Given the description of an element on the screen output the (x, y) to click on. 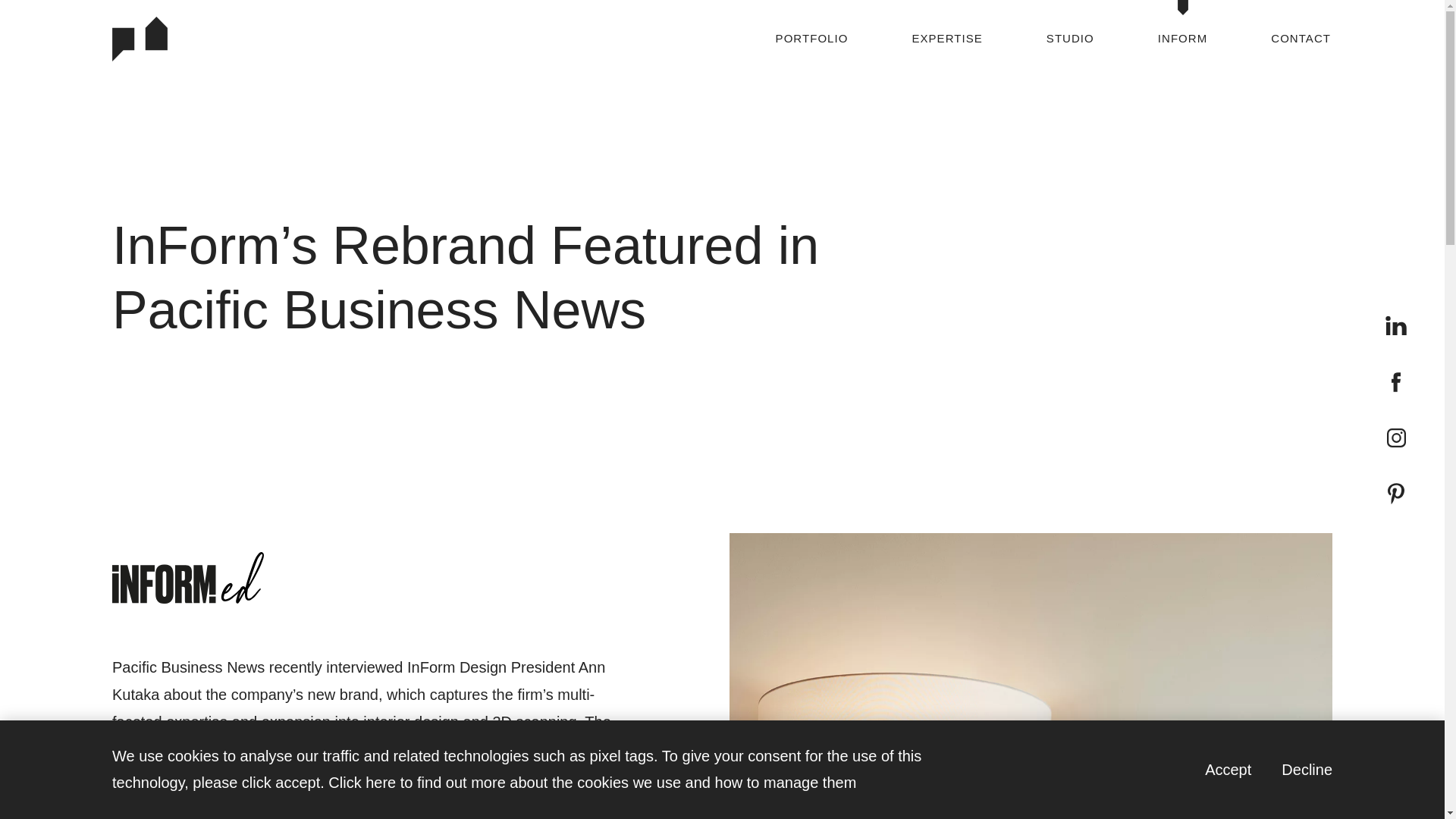
STUDIO (1069, 37)
Instagram (1396, 437)
CONTACT (1300, 37)
Accept (1219, 769)
INFORM (1182, 37)
LinkedIn (1395, 381)
Click here (1396, 324)
Decline (362, 782)
EXPERTISE (1299, 769)
PORTFOLIO (946, 37)
